Given the description of an element on the screen output the (x, y) to click on. 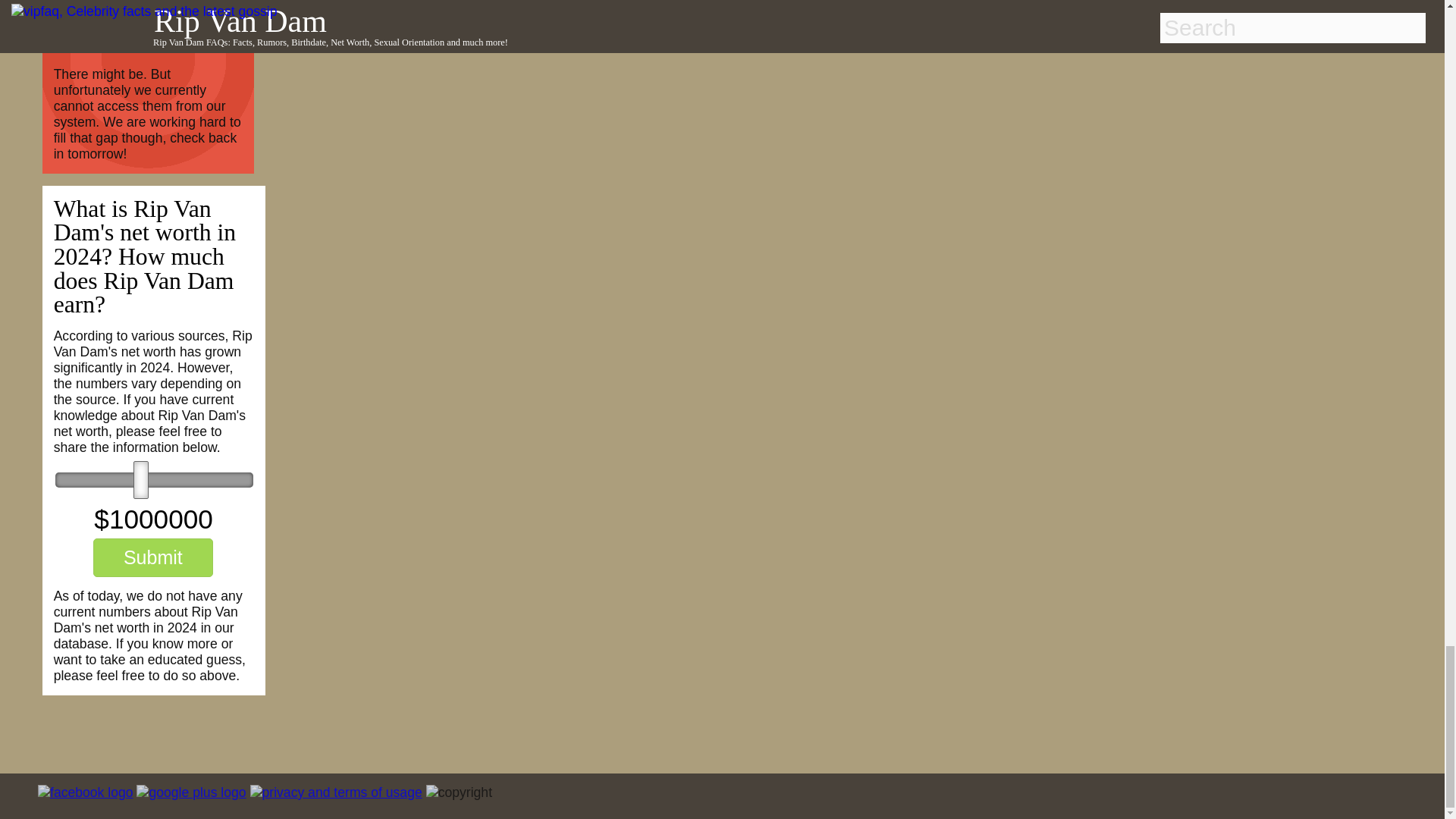
6 (154, 479)
Submit (152, 557)
